Given the description of an element on the screen output the (x, y) to click on. 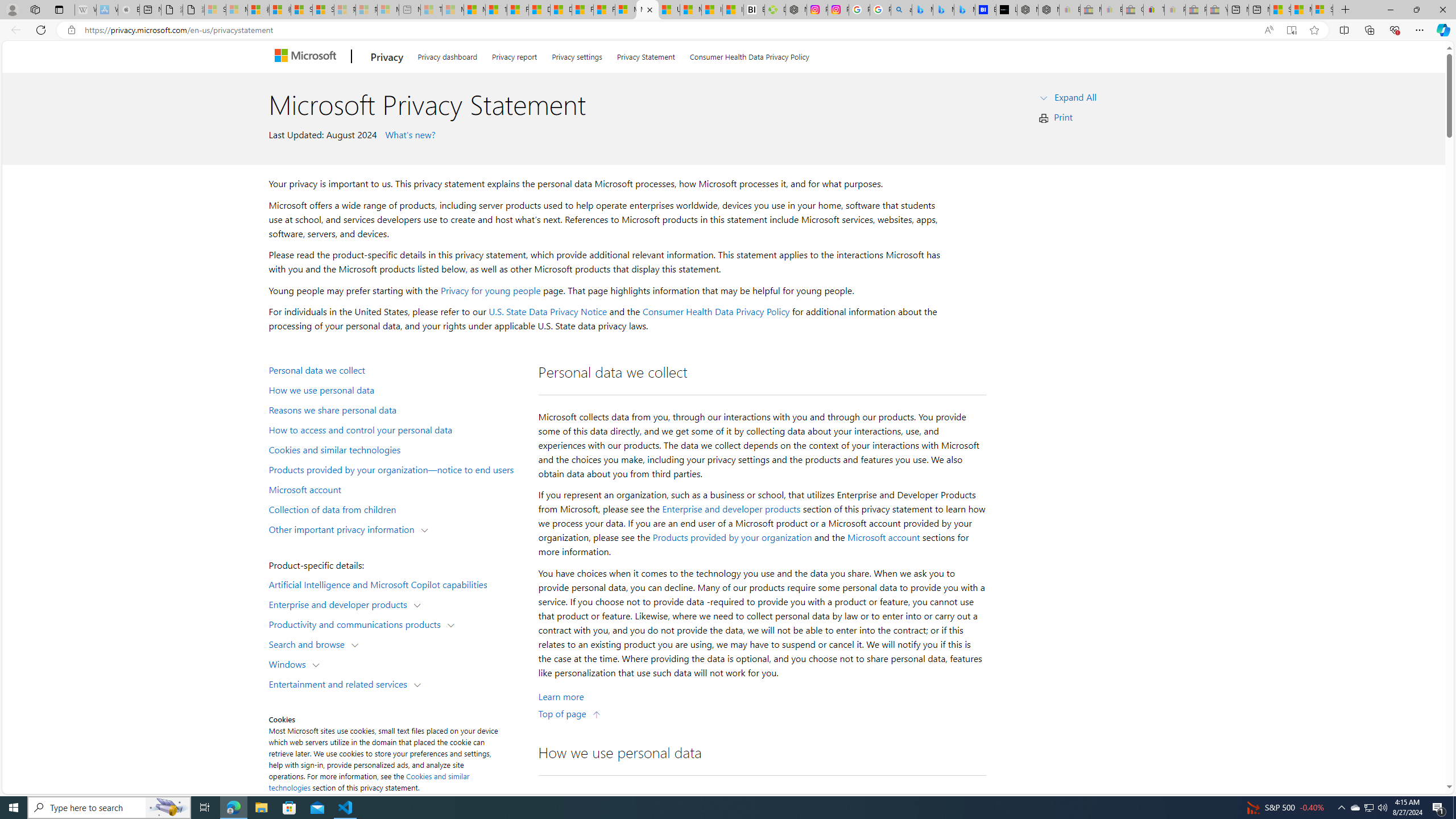
Privacy dashboard (447, 54)
U.S. State Data Privacy Notice (548, 311)
New tab - Sleeping (409, 9)
Sign in to your Microsoft account - Sleeping (215, 9)
